Given the description of an element on the screen output the (x, y) to click on. 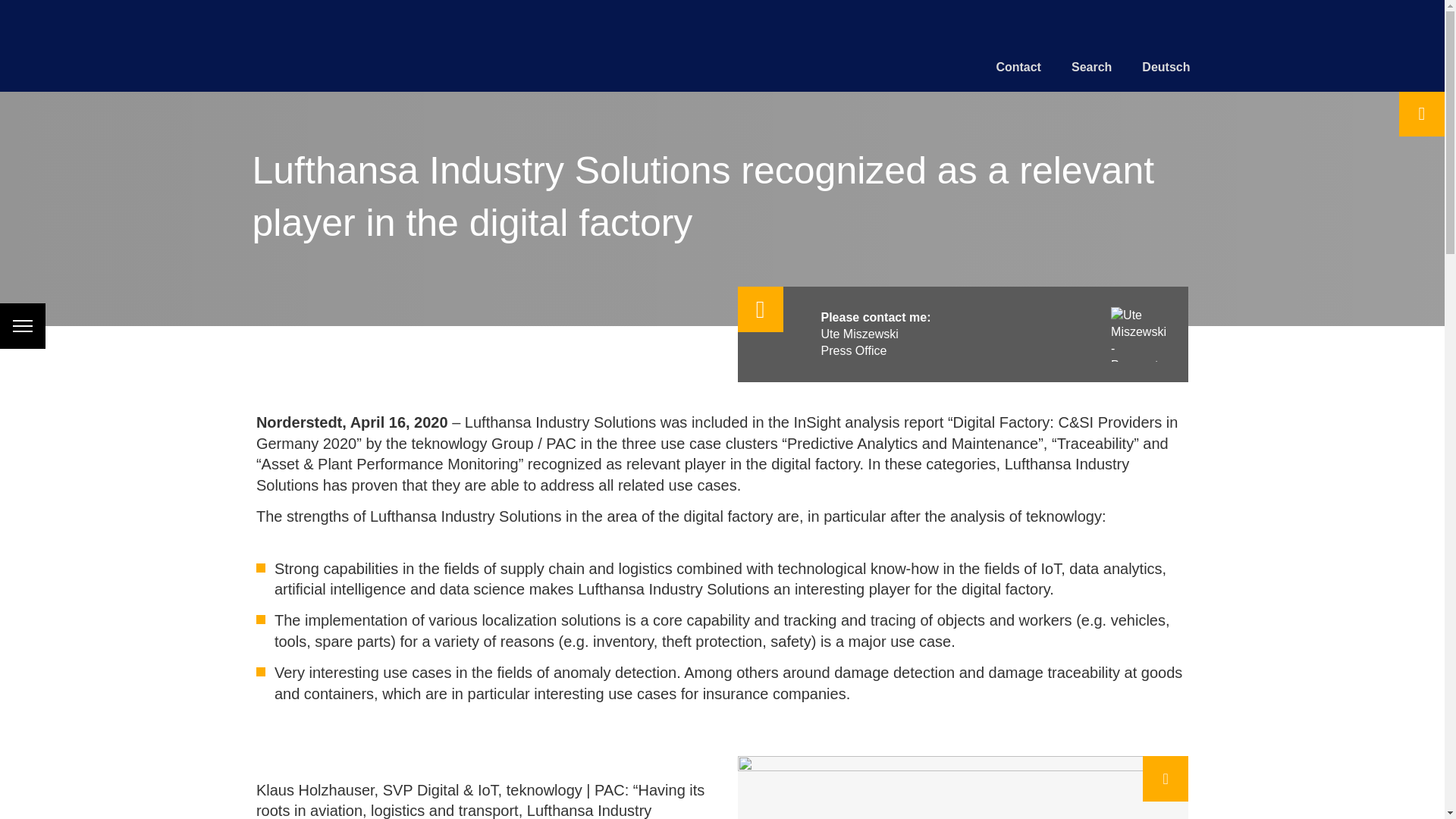
Search (1091, 67)
Deutsch (1165, 67)
Contact (1018, 67)
Ute Miszewski - Pressestelle bei LHIND (1138, 334)
